Given the description of an element on the screen output the (x, y) to click on. 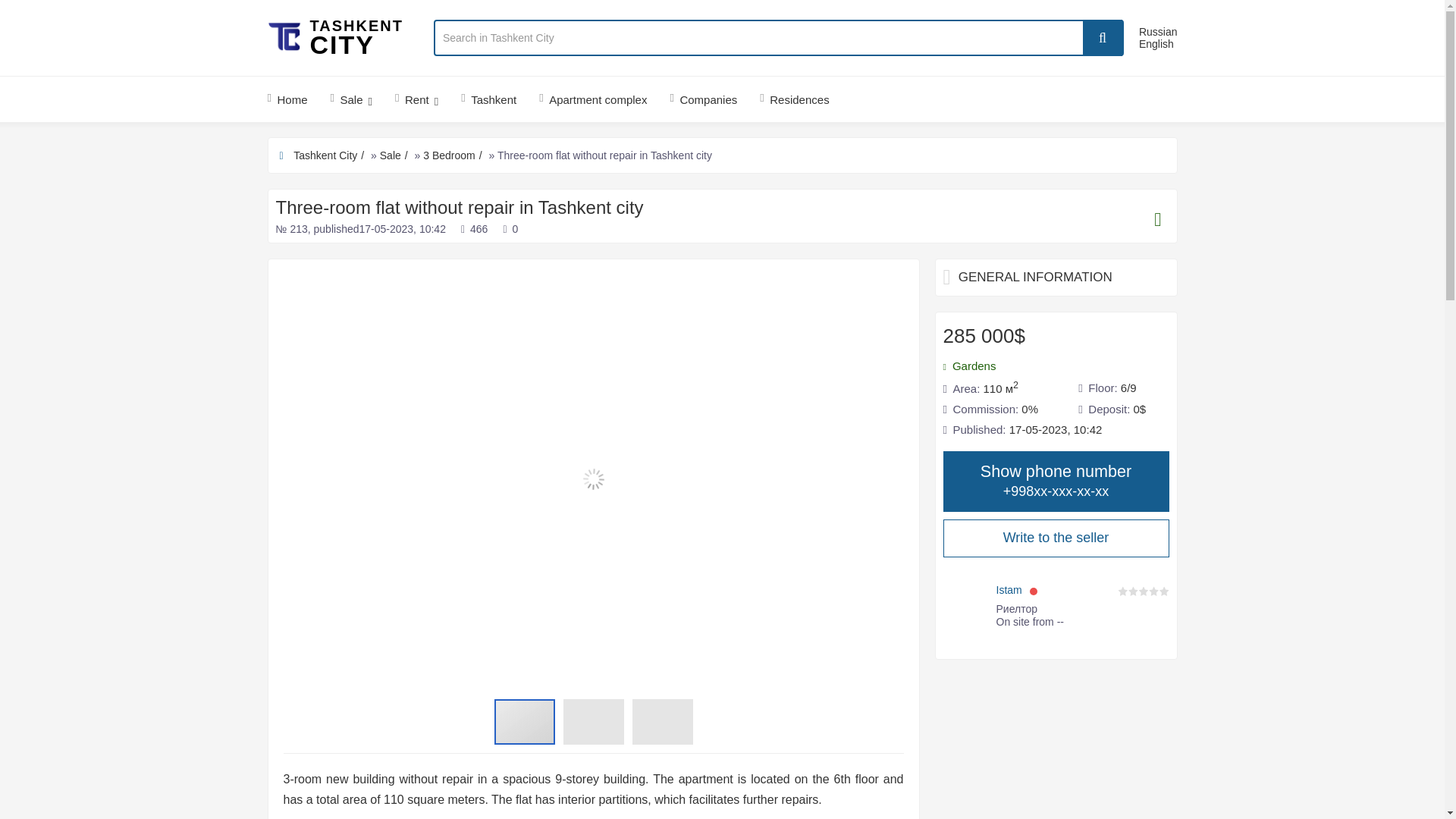
3 Bedroom (453, 155)
Sale (396, 155)
Seller offline (1032, 590)
Tashkent (488, 99)
Russian (1157, 31)
Tashkent City (331, 155)
Residences (794, 99)
Apartment complex (592, 99)
Sale (351, 99)
